Given the description of an element on the screen output the (x, y) to click on. 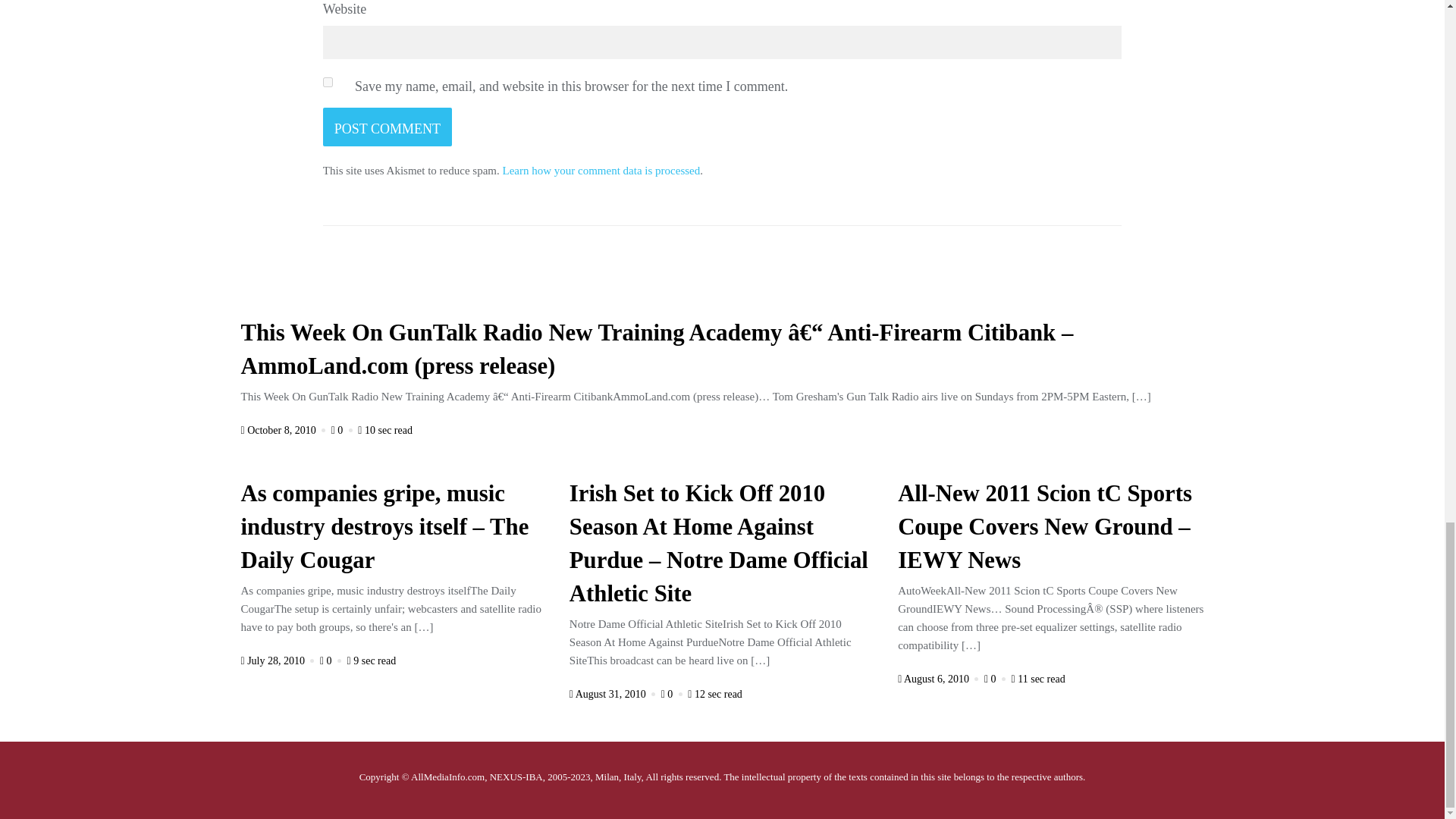
Post Comment (387, 126)
yes (328, 81)
